Given the description of an element on the screen output the (x, y) to click on. 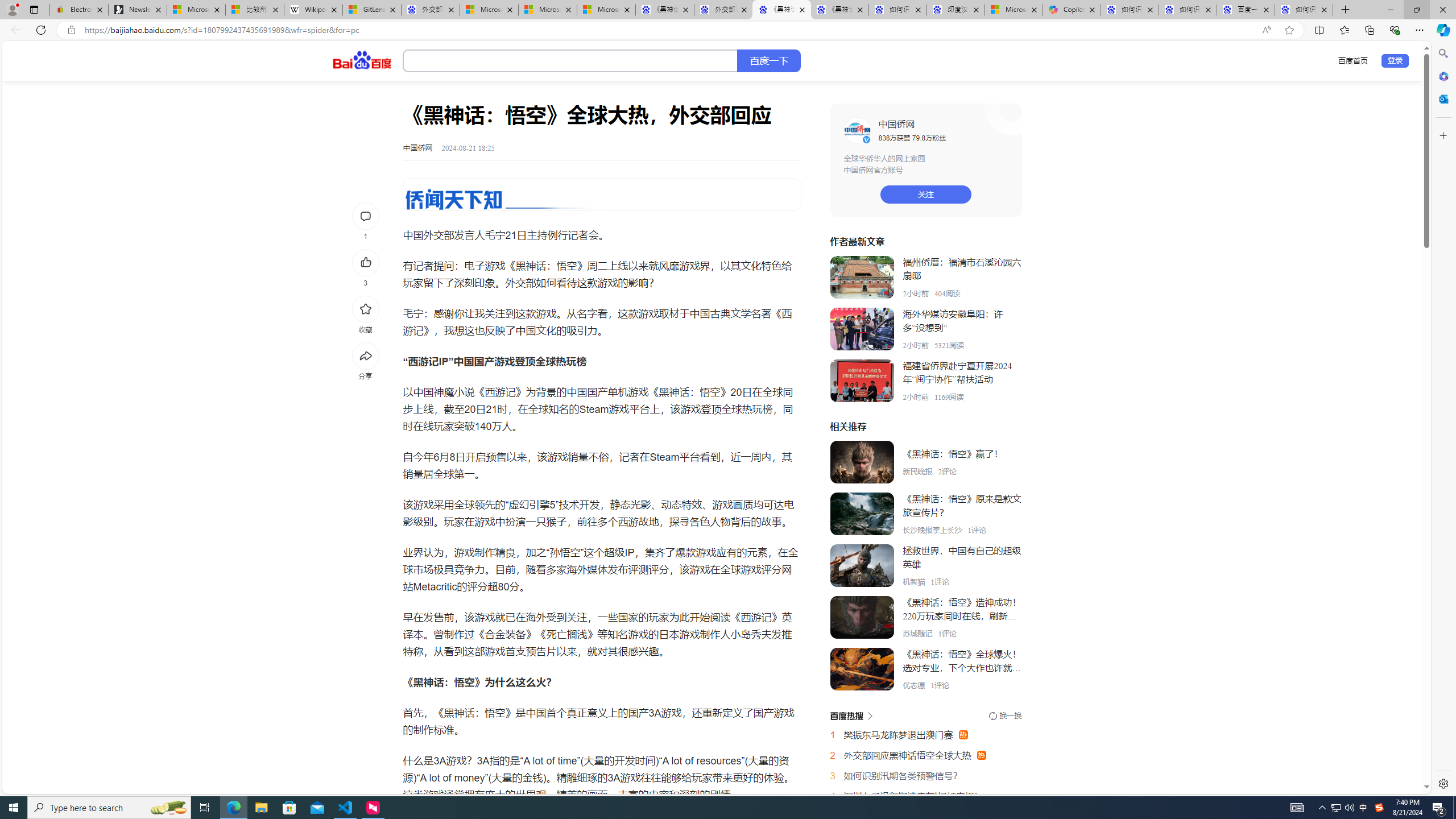
Class: _2C4fV (570, 60)
Class: XDq7y (861, 668)
